Given the description of an element on the screen output the (x, y) to click on. 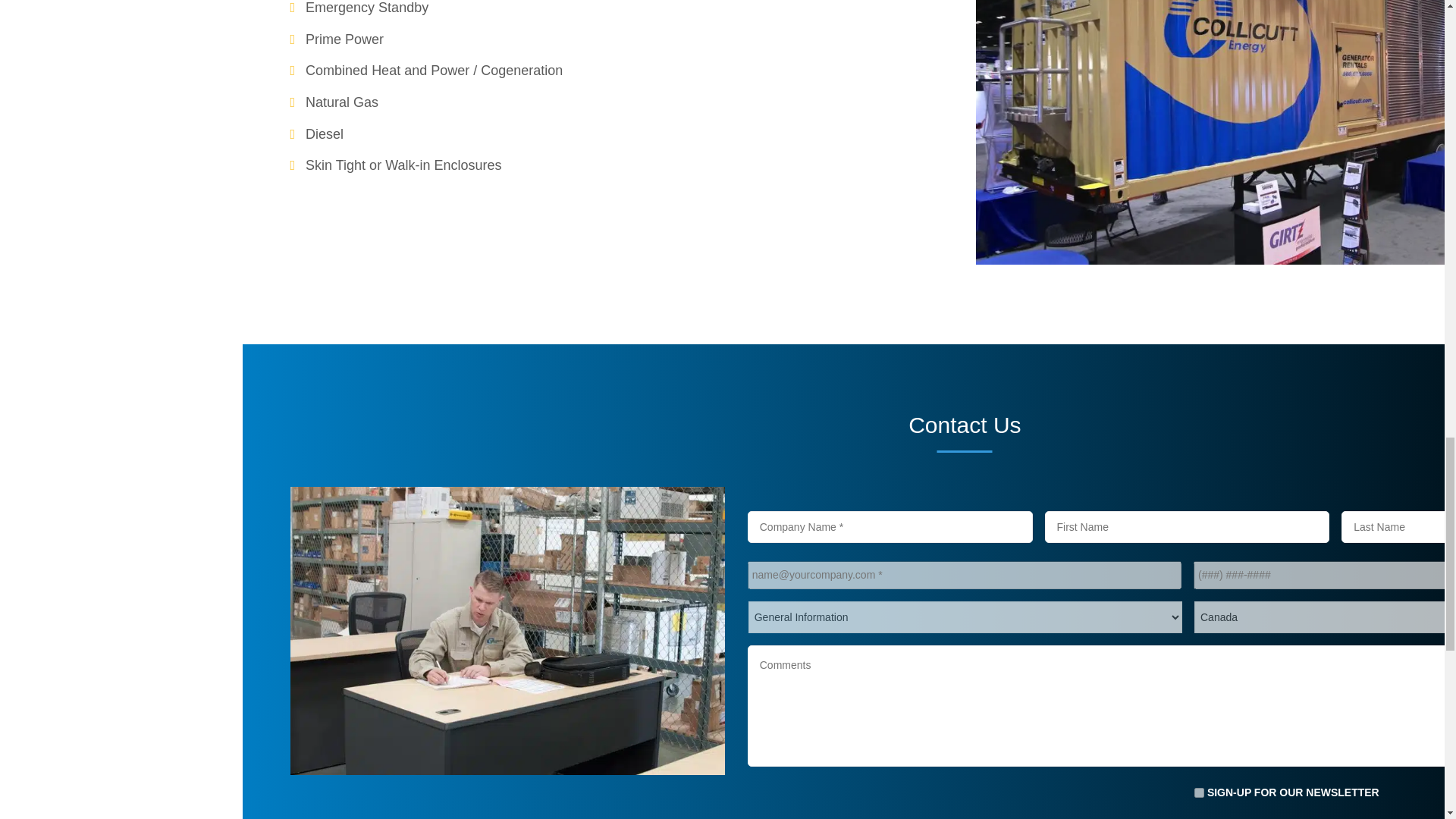
YES (1198, 792)
rental-4 (506, 494)
